Given the description of an element on the screen output the (x, y) to click on. 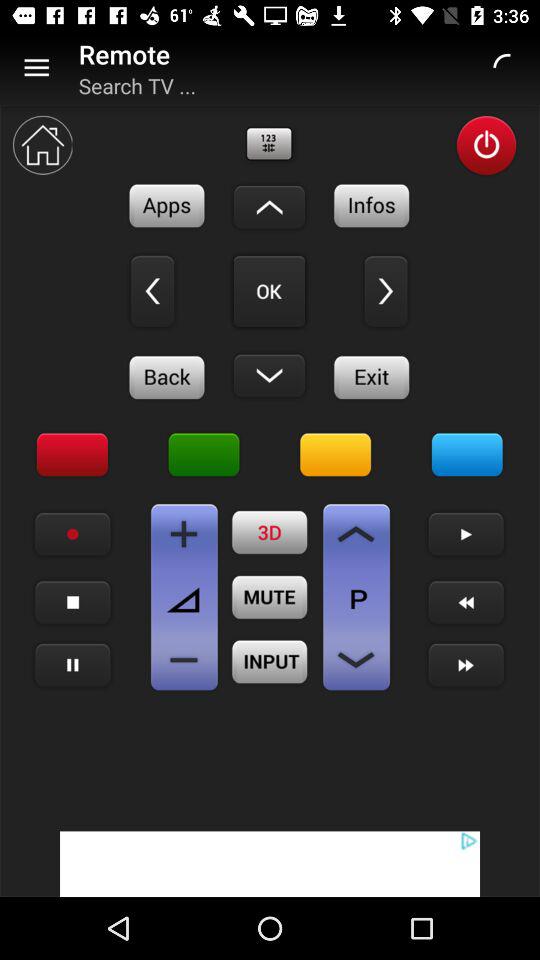
go back (167, 377)
